Given the description of an element on the screen output the (x, y) to click on. 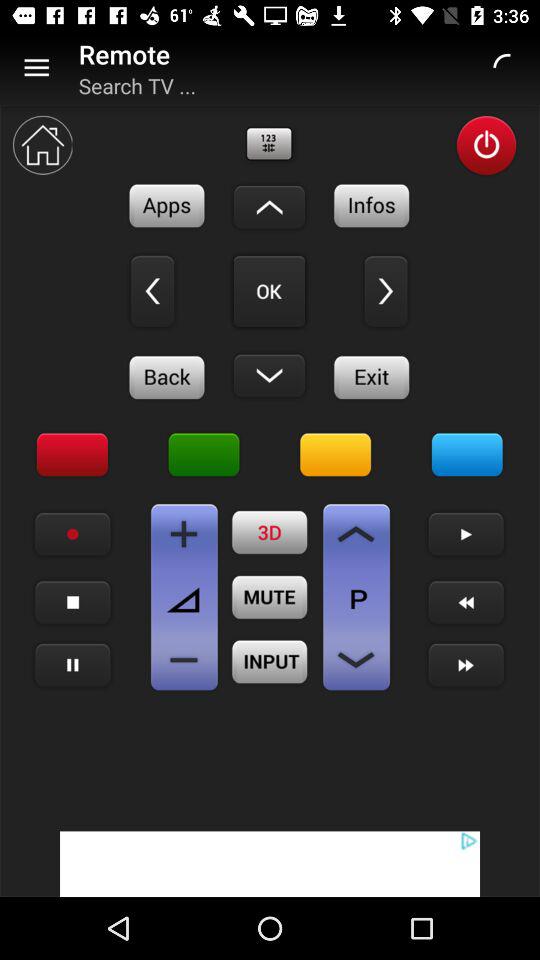
go back (167, 377)
